Given the description of an element on the screen output the (x, y) to click on. 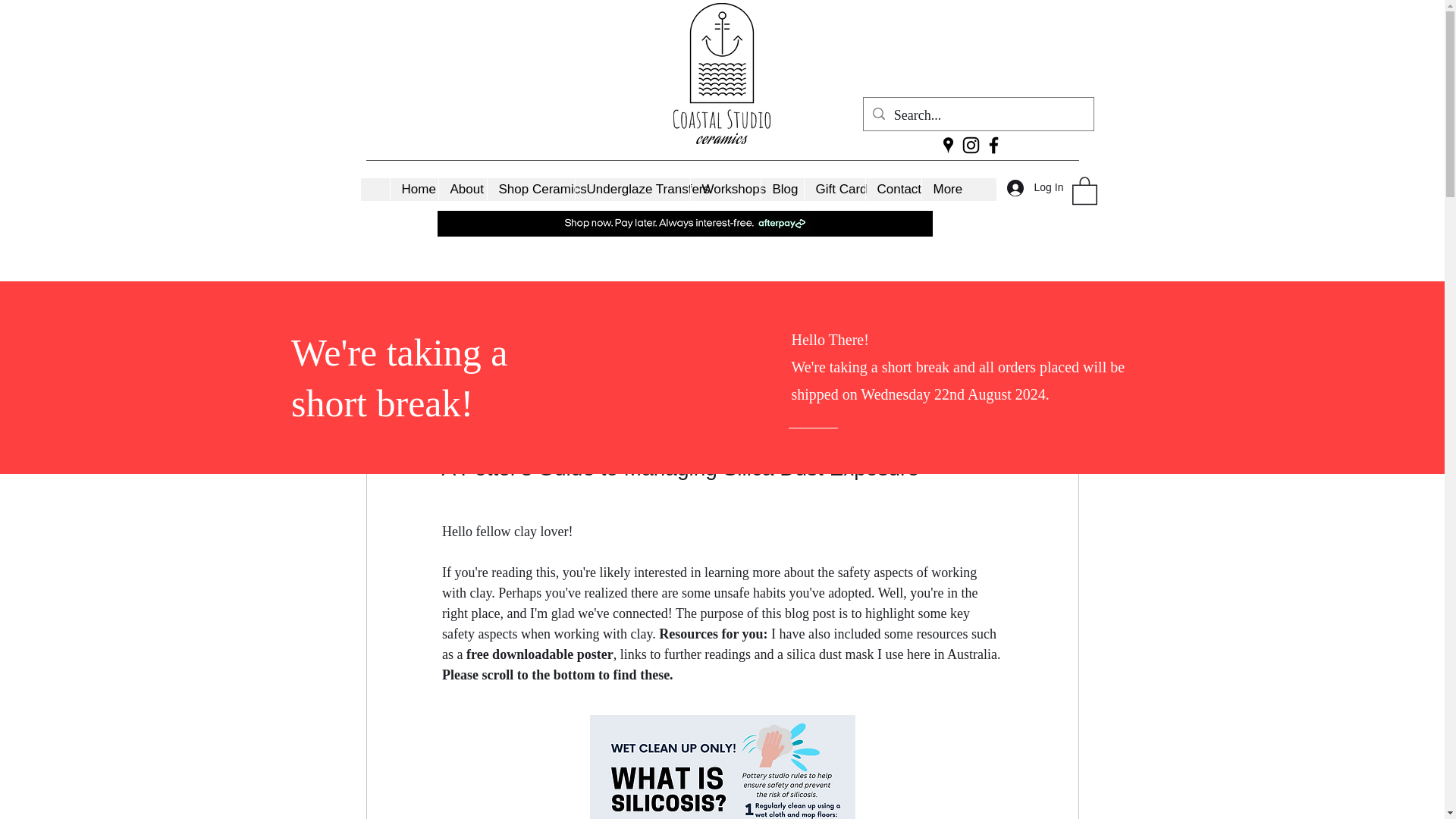
Mar 15 (591, 415)
Ceramic Underglaze Transfers (668, 311)
Gift Card (833, 189)
Workshops (725, 189)
Log In (1025, 187)
Blog (781, 189)
About (462, 189)
Jasmine Hayes (501, 415)
Underglaze Transfers (632, 189)
Contact (892, 189)
